Given the description of an element on the screen output the (x, y) to click on. 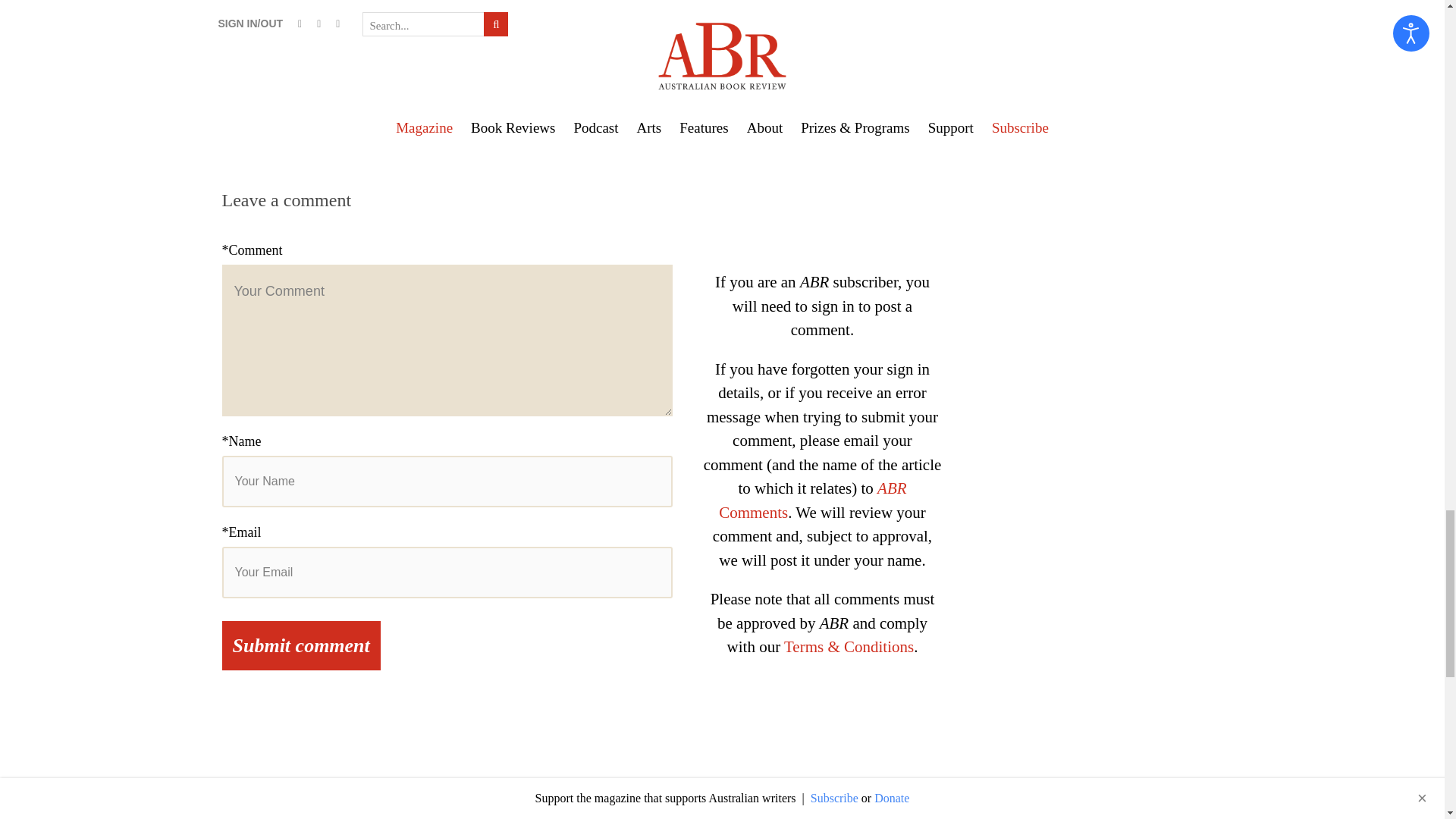
Your Name (446, 480)
Submit comment (300, 645)
Your Email (446, 572)
